Given the description of an element on the screen output the (x, y) to click on. 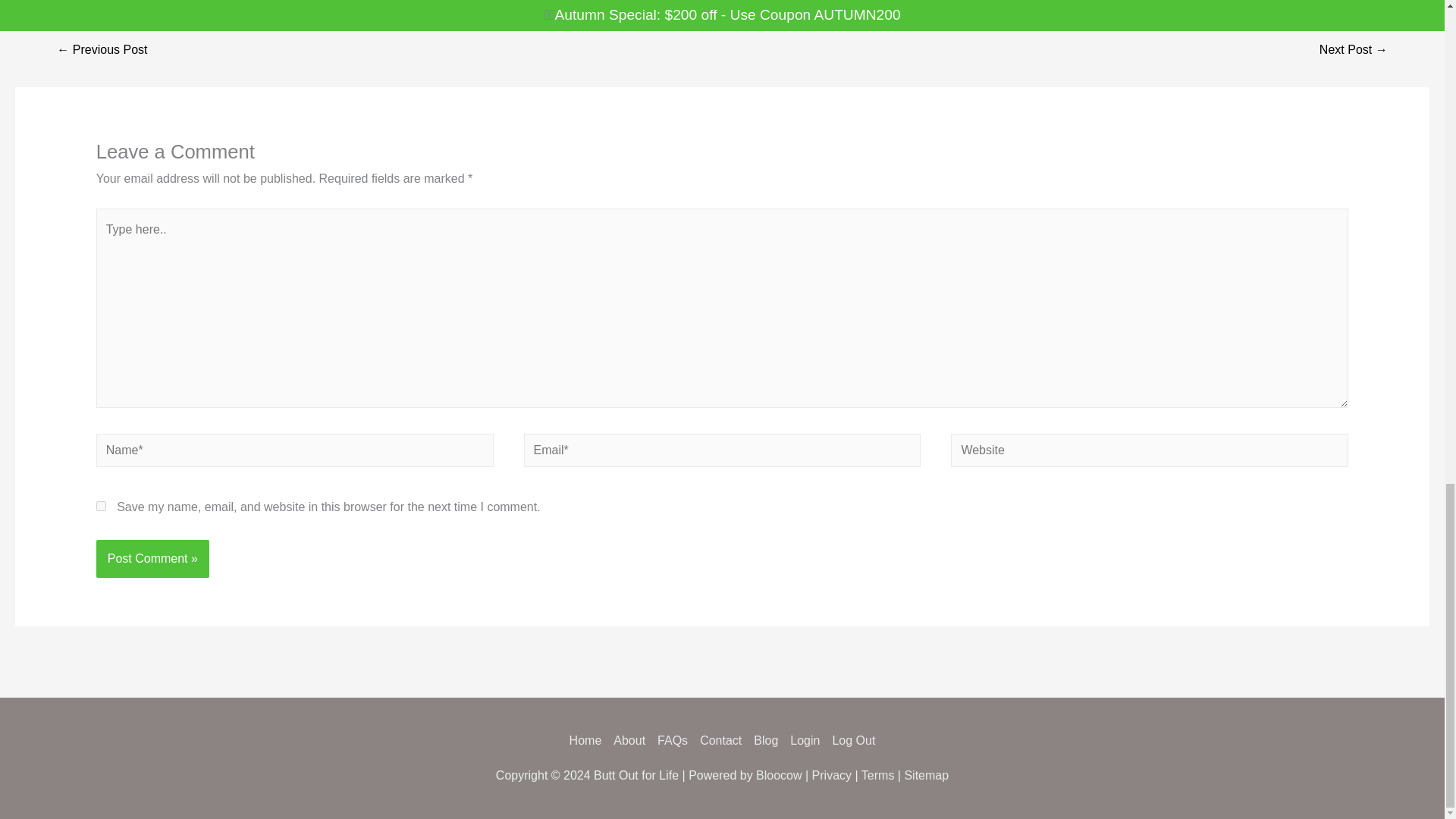
Bloocow (778, 775)
About (628, 739)
Contact (721, 739)
Login (804, 739)
Sitemap (926, 775)
Terms (878, 775)
FAQs (672, 739)
Blog (766, 739)
Privacy (831, 775)
yes (101, 506)
Home (588, 739)
Log Out (850, 739)
